Given the description of an element on the screen output the (x, y) to click on. 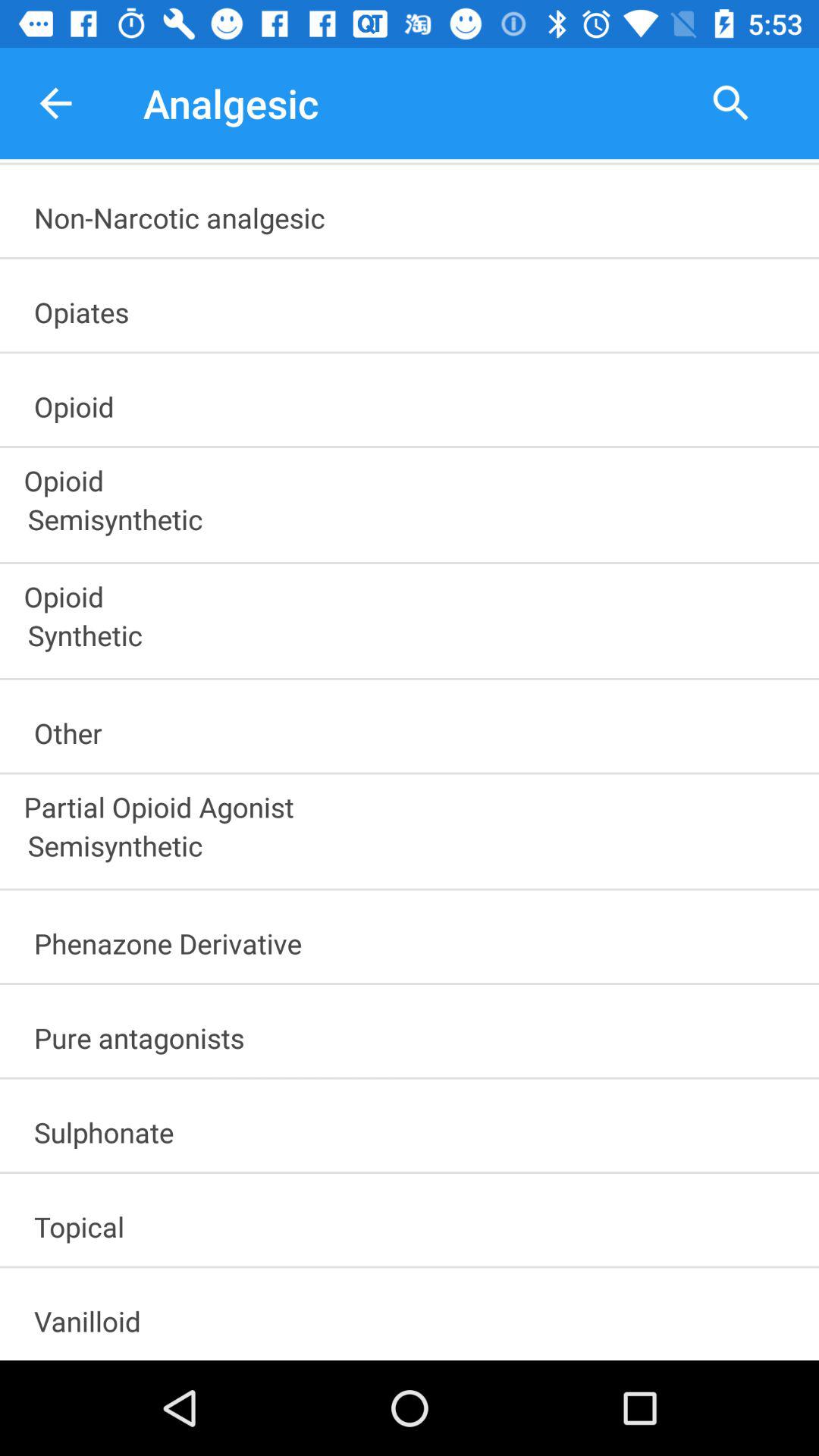
turn off item above the semisynthetic (411, 802)
